Given the description of an element on the screen output the (x, y) to click on. 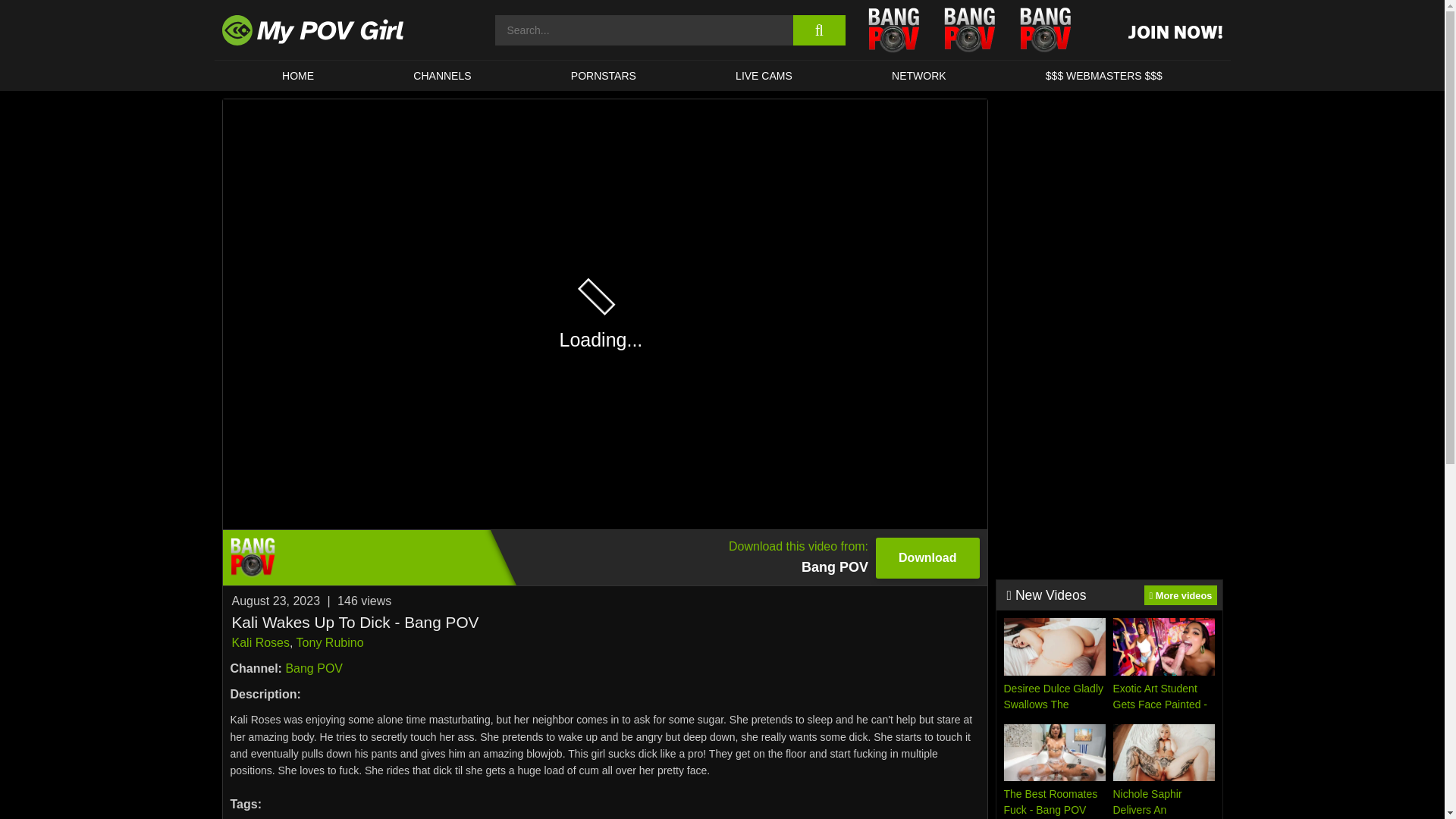
Tony Rubino (330, 642)
PORNSTARS (603, 75)
LIVE CAMS (604, 557)
Bang POV (763, 75)
Kali Roses (313, 667)
HOME (260, 642)
NETWORK (296, 75)
CHANNELS (918, 75)
